Given the description of an element on the screen output the (x, y) to click on. 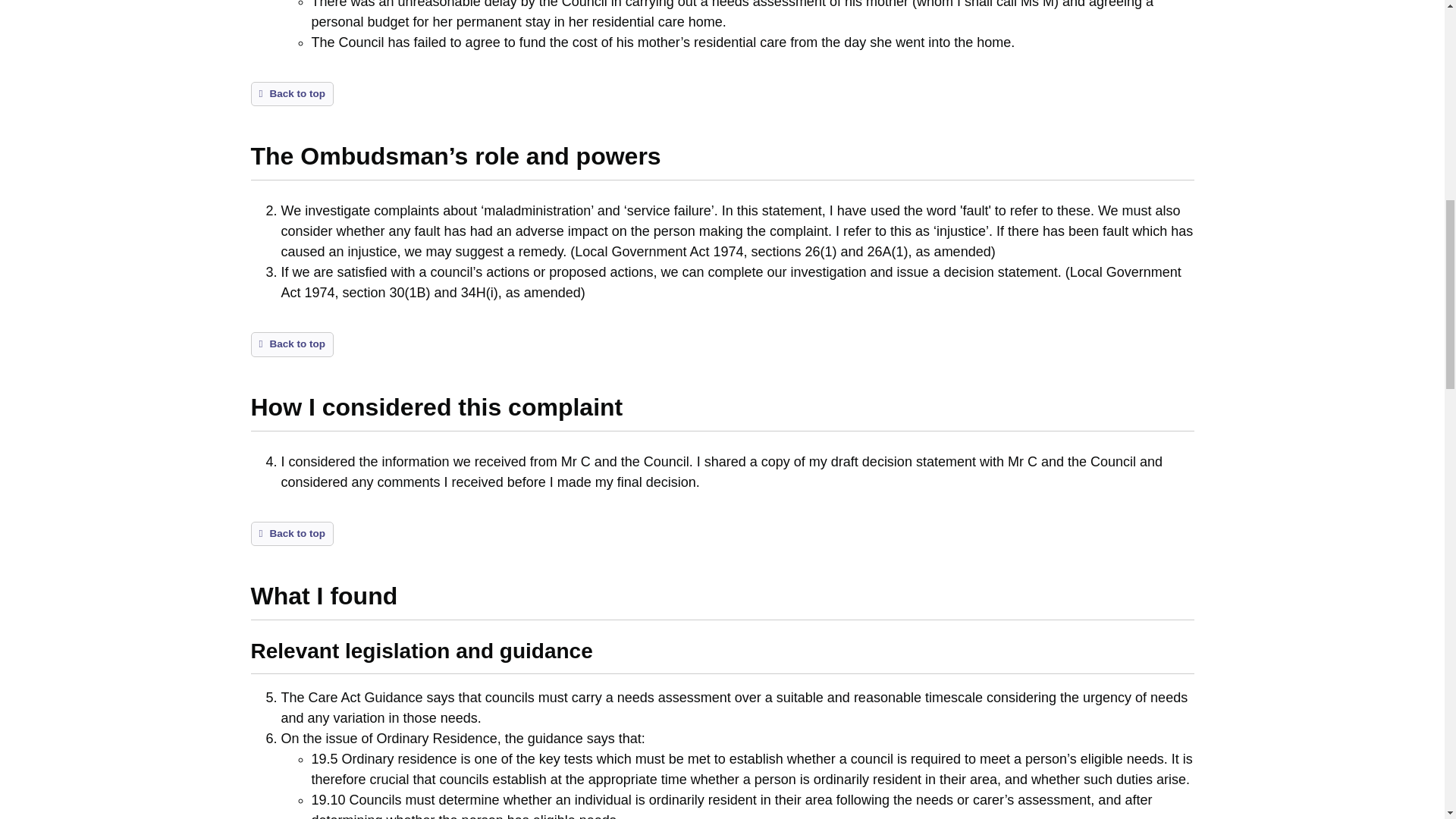
Back to top (291, 93)
Back to top (291, 344)
